Given the description of an element on the screen output the (x, y) to click on. 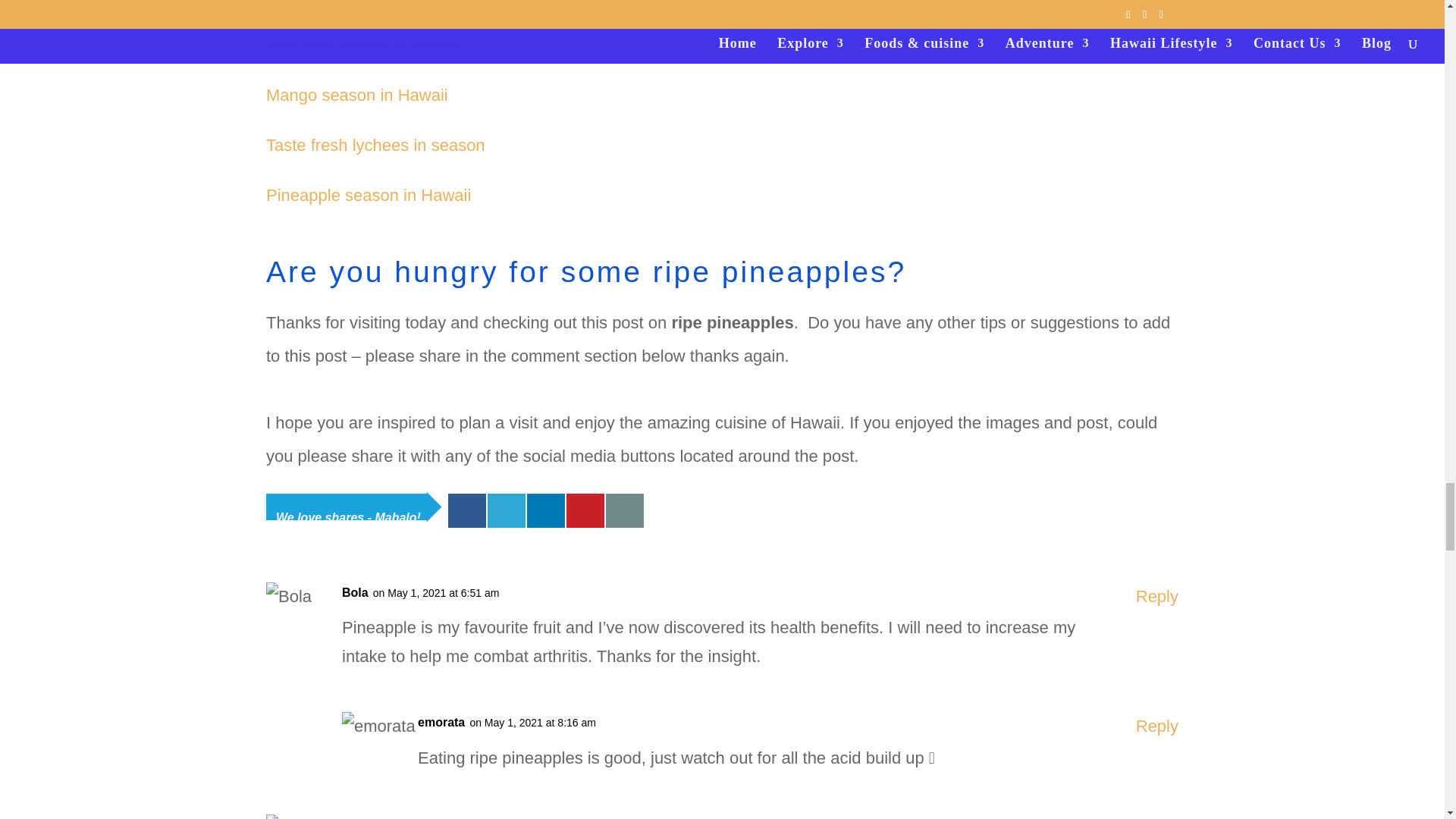
Share On Twitter (506, 510)
Share On Linkedin (545, 510)
We love shares - Mahalo! (347, 506)
Share On Facebook (467, 510)
Contact us (624, 510)
Share On Pinterest (585, 510)
